Given the description of an element on the screen output the (x, y) to click on. 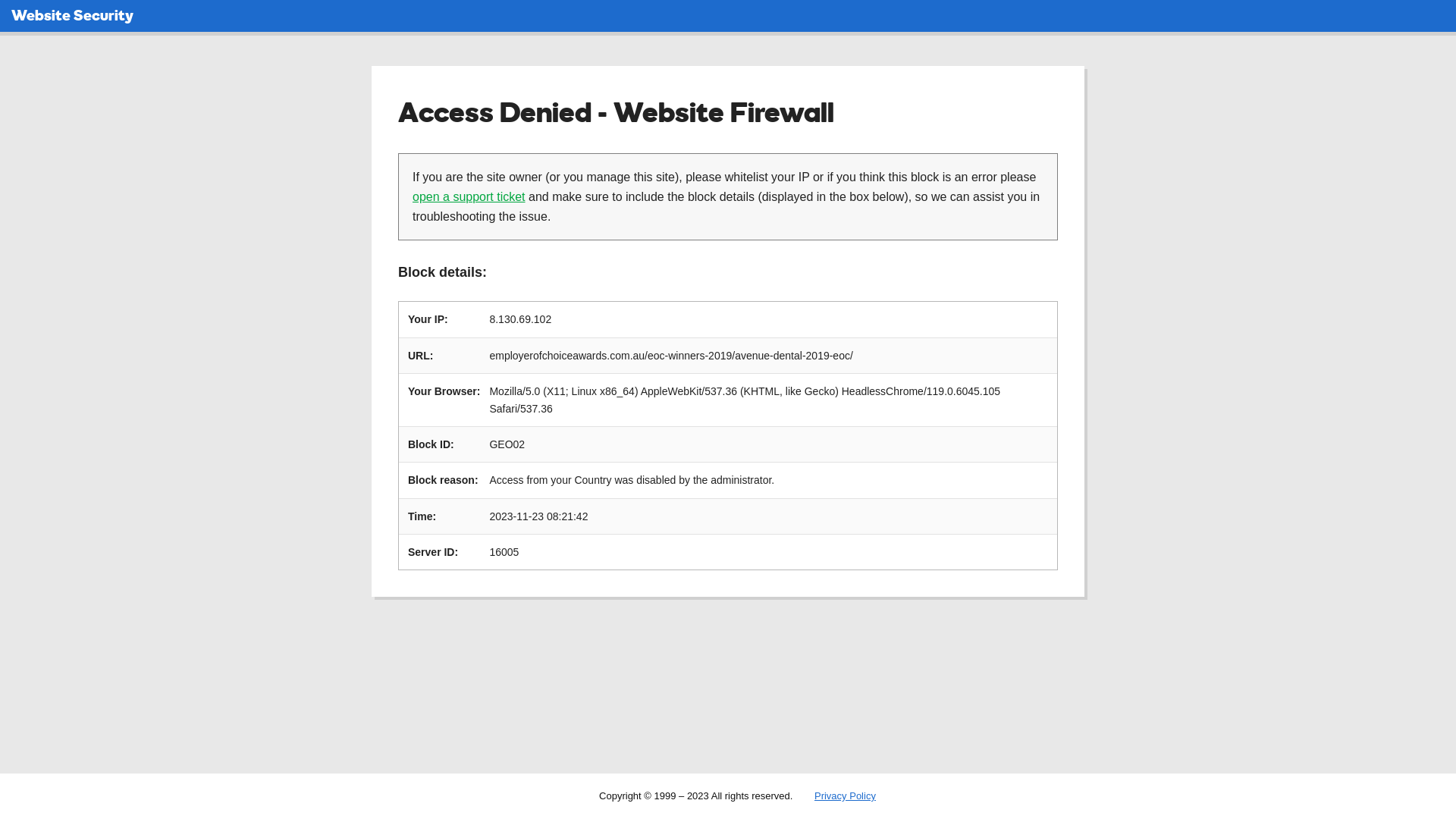
open a support ticket Element type: text (468, 196)
Privacy Policy Element type: text (844, 795)
